Given the description of an element on the screen output the (x, y) to click on. 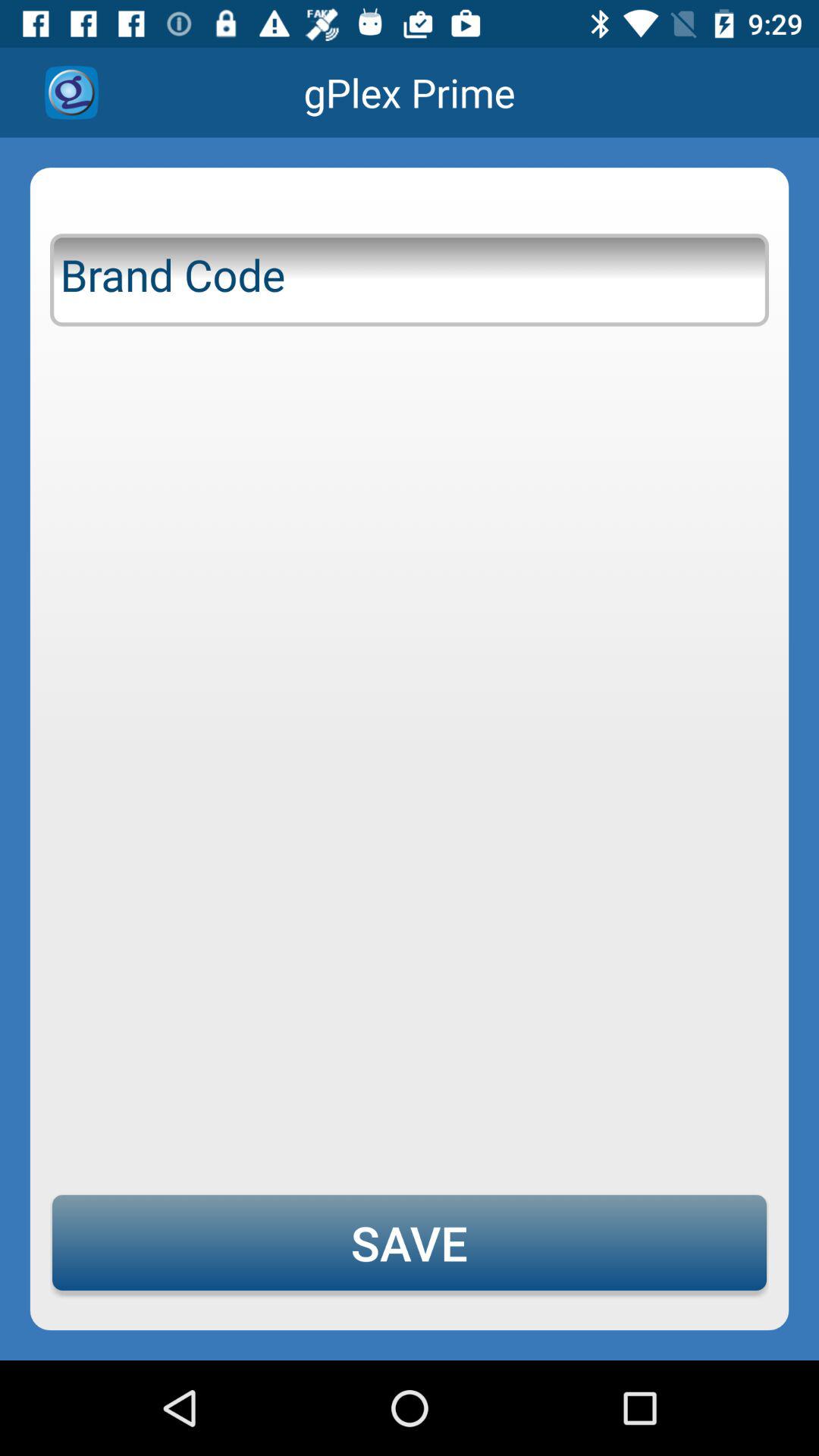
open the save (409, 1242)
